Given the description of an element on the screen output the (x, y) to click on. 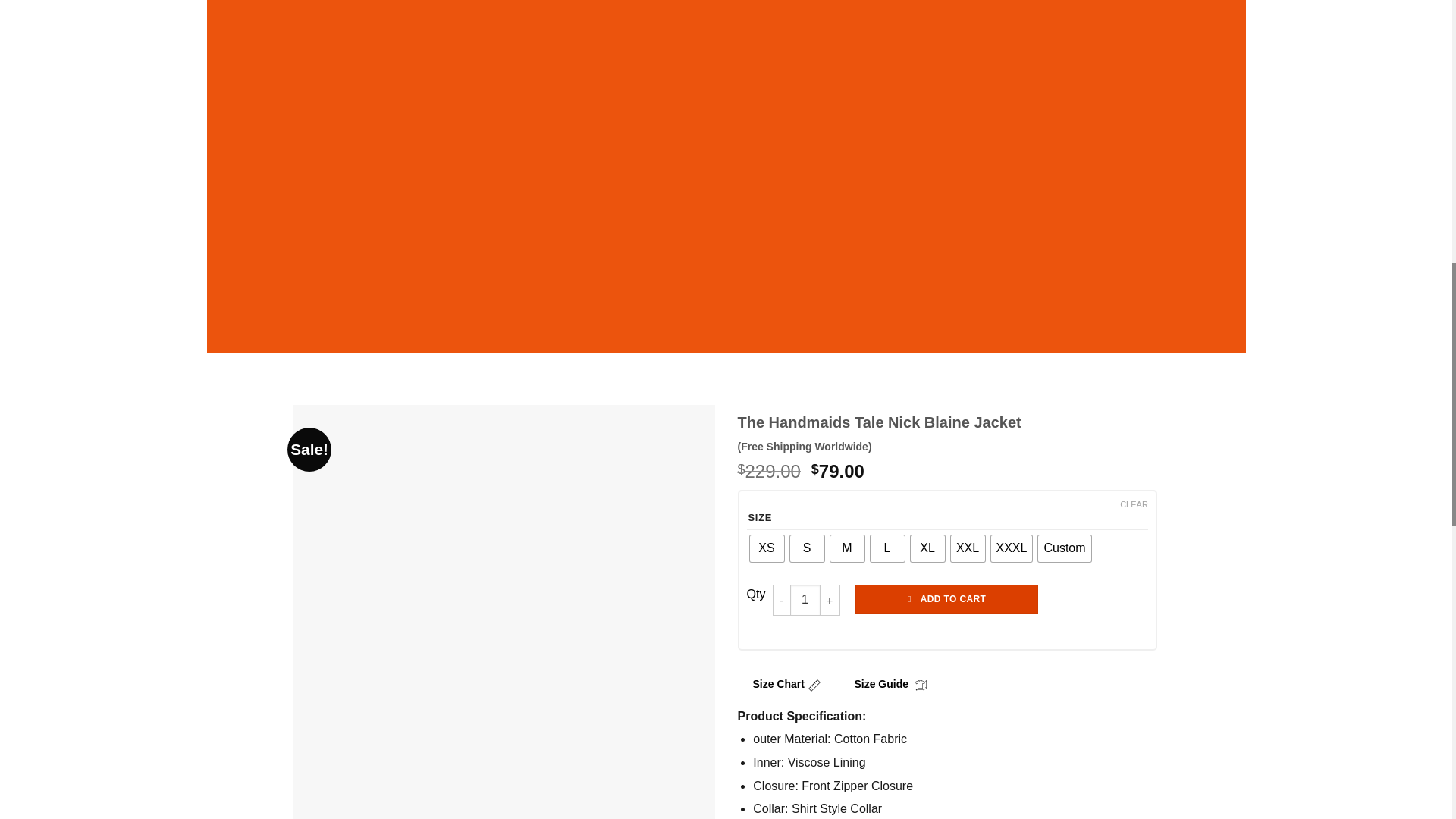
XXL (967, 548)
1 (805, 599)
S (807, 548)
XS (766, 548)
XXXL (1011, 548)
Custom (1064, 548)
XL (926, 548)
L (887, 548)
M (846, 548)
